Given the description of an element on the screen output the (x, y) to click on. 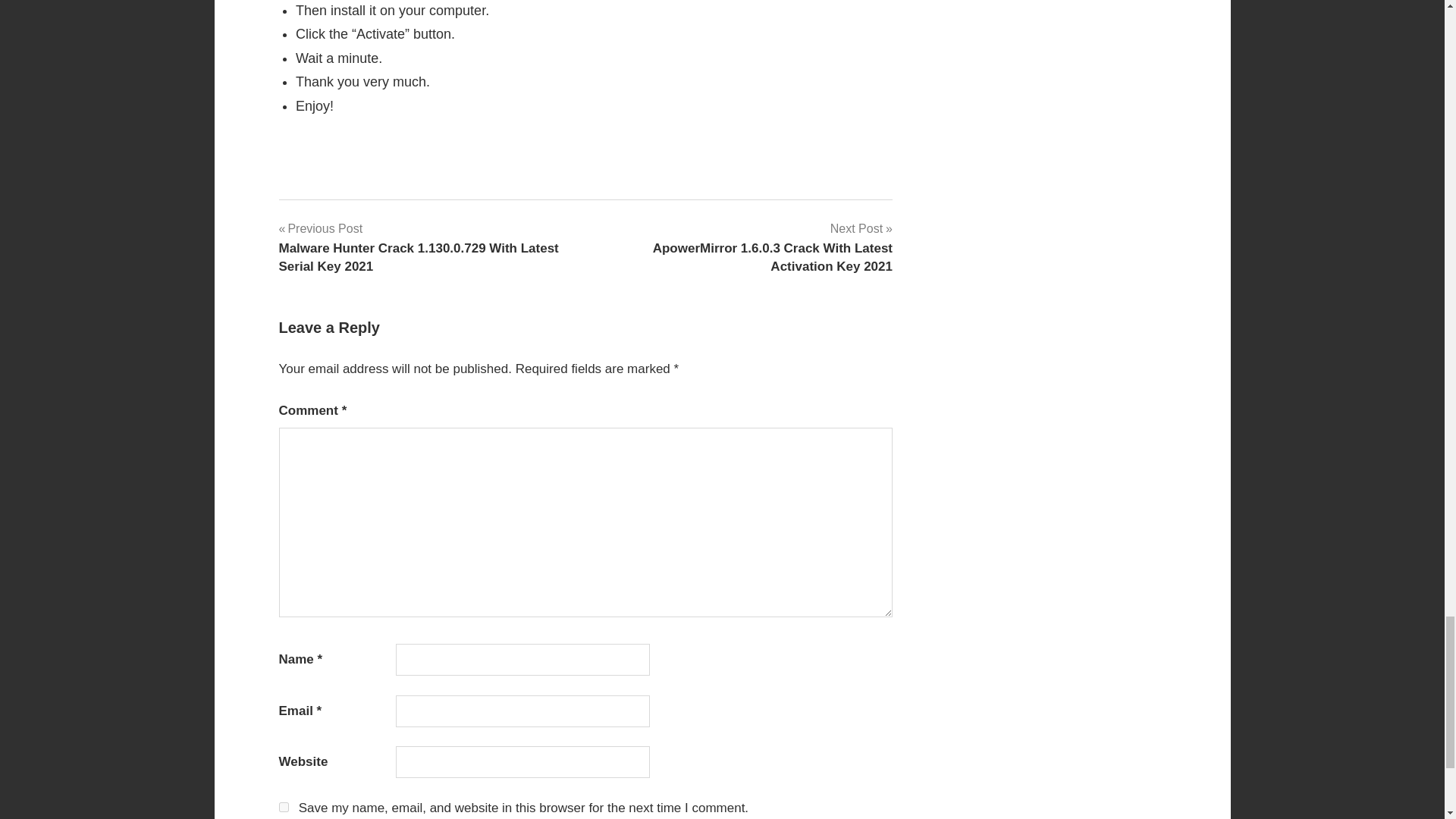
yes (283, 807)
